Given the description of an element on the screen output the (x, y) to click on. 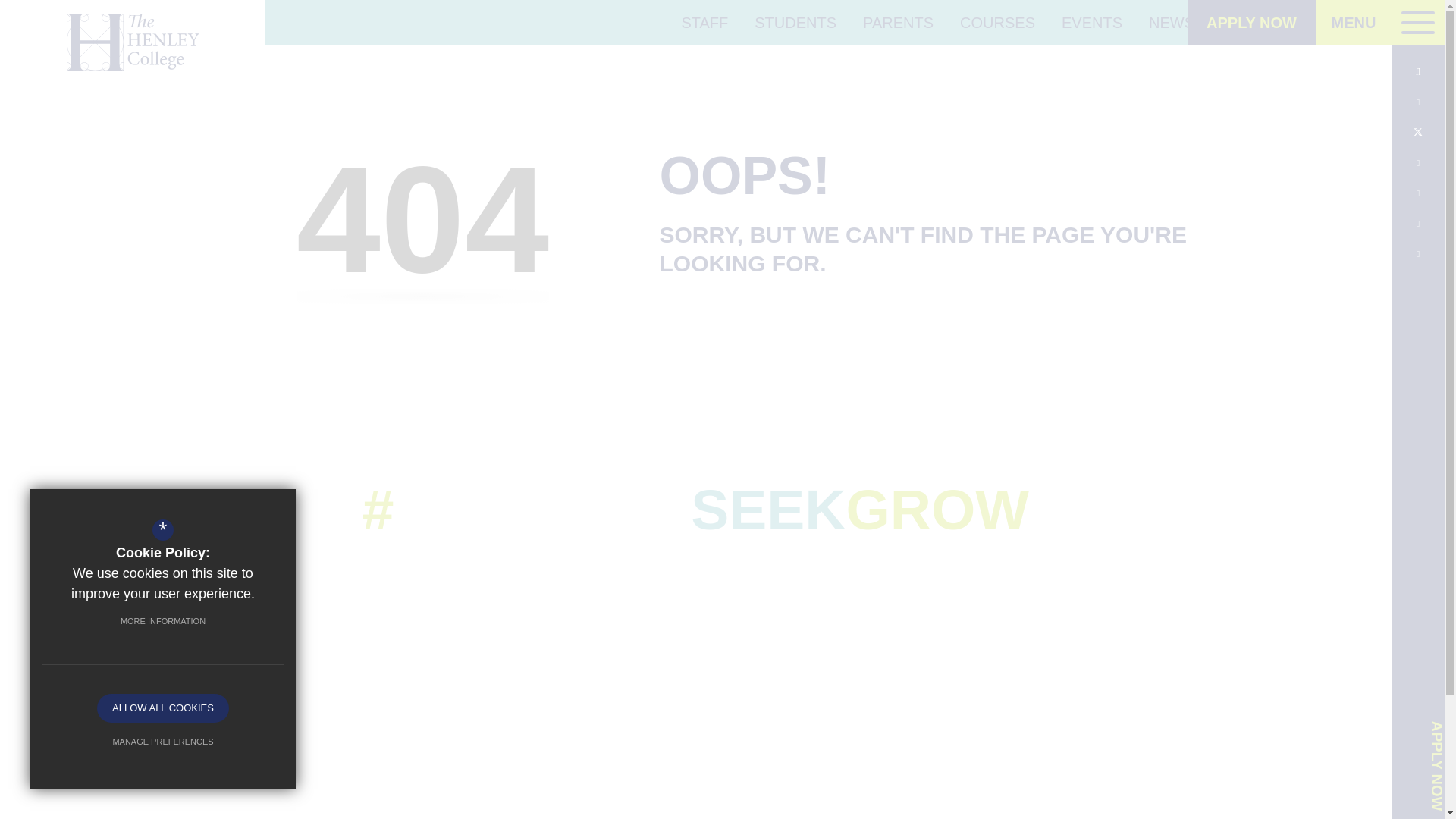
APPLY NOW (1252, 22)
COURSES (997, 22)
Courses (997, 22)
Search site (1417, 71)
News (1170, 22)
TikTok (1417, 223)
Facebook (1417, 101)
The Henley College (132, 41)
EVENTS (1091, 22)
STAFF (704, 22)
